Given the description of an element on the screen output the (x, y) to click on. 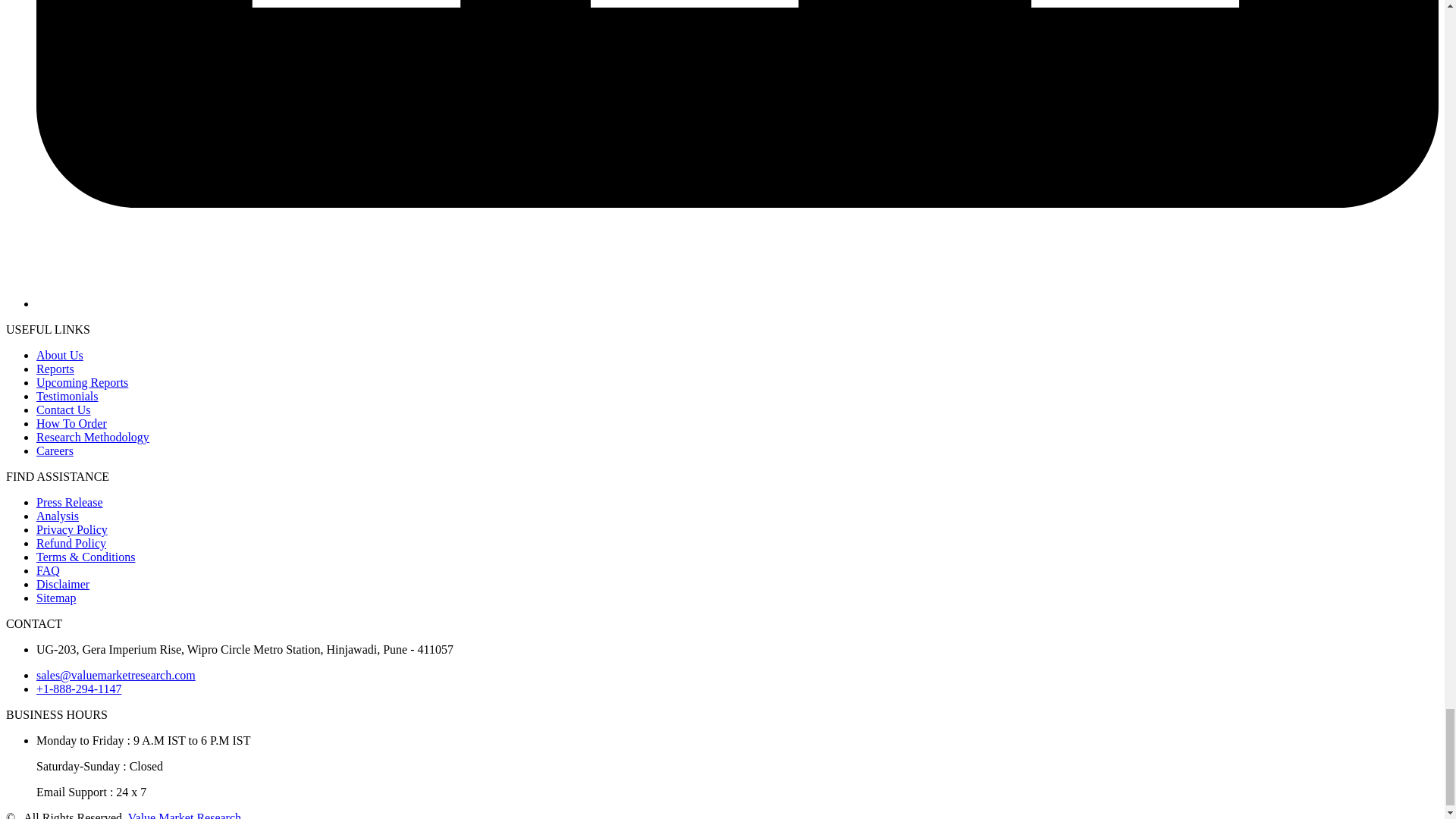
How To Order (71, 422)
Contact Us (63, 409)
Testimonials (67, 395)
FAQ (47, 570)
Sitemap (55, 597)
Research Methodology (92, 436)
About Us (59, 354)
Privacy Policy (71, 529)
Reports (55, 368)
Refund Policy (71, 543)
